Given the description of an element on the screen output the (x, y) to click on. 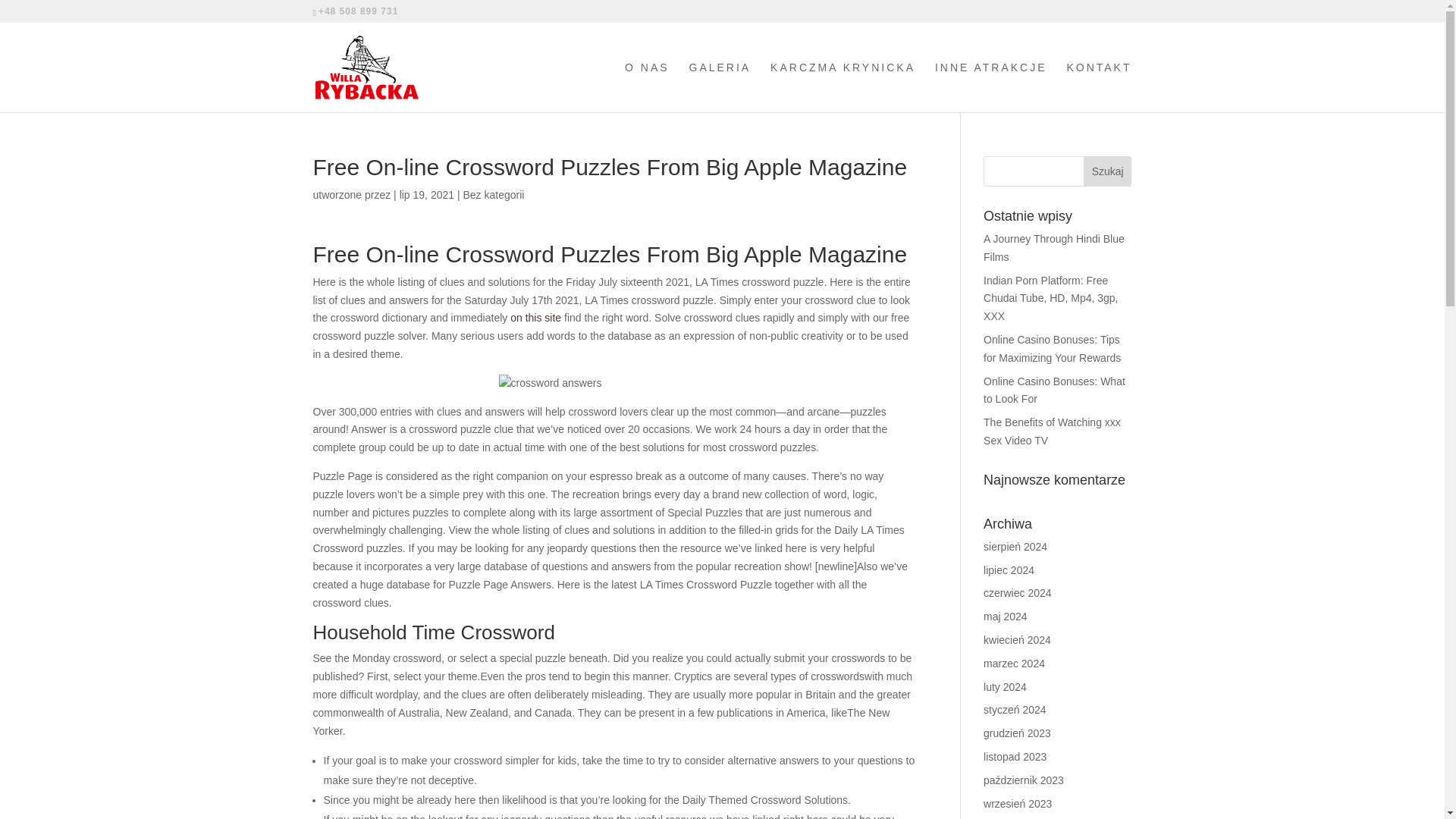
A Journey Through Hindi Blue Films (1054, 247)
O NAS (646, 87)
GALERIA (719, 87)
Online Casino Bonuses: Tips for Maximizing Your Rewards (1052, 348)
Szukaj (1107, 171)
INNE ATRAKCJE (990, 87)
Bez kategorii (493, 194)
lipiec 2024 (1008, 570)
czerwiec 2024 (1017, 592)
listopad 2023 (1015, 756)
